Given the description of an element on the screen output the (x, y) to click on. 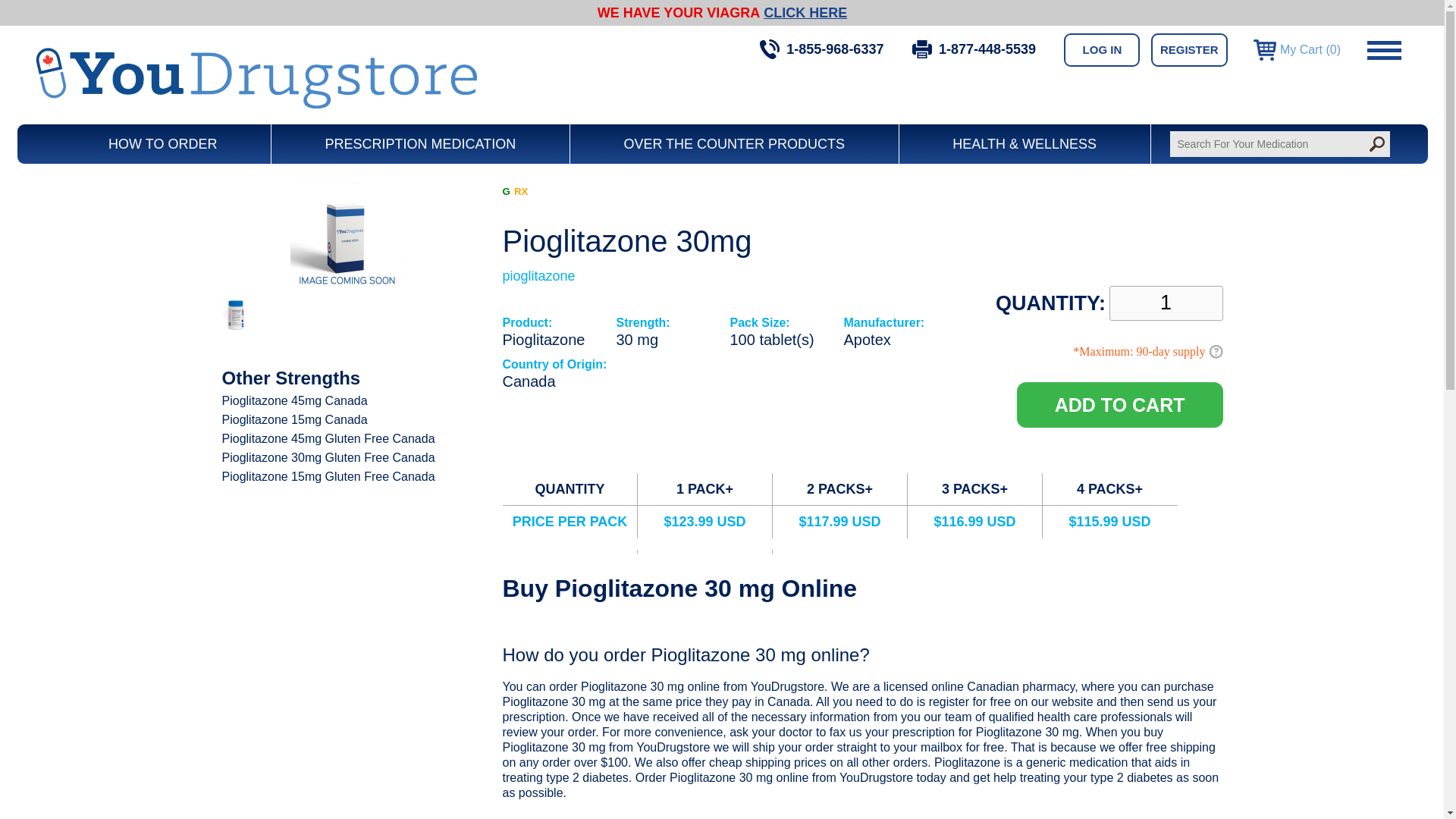
Search (1375, 144)
HOW TO ORDER (162, 143)
REGISTER (1189, 49)
Maximum 90-day supply (1215, 350)
LOG IN (1102, 49)
Pioglitazone 30mg (234, 328)
OVER THE COUNTER PRODUCTS (734, 143)
PRESCRIPTION MEDICATION (419, 143)
ADD TO CART (1119, 404)
Pioglitazone 30mg (346, 287)
